Given the description of an element on the screen output the (x, y) to click on. 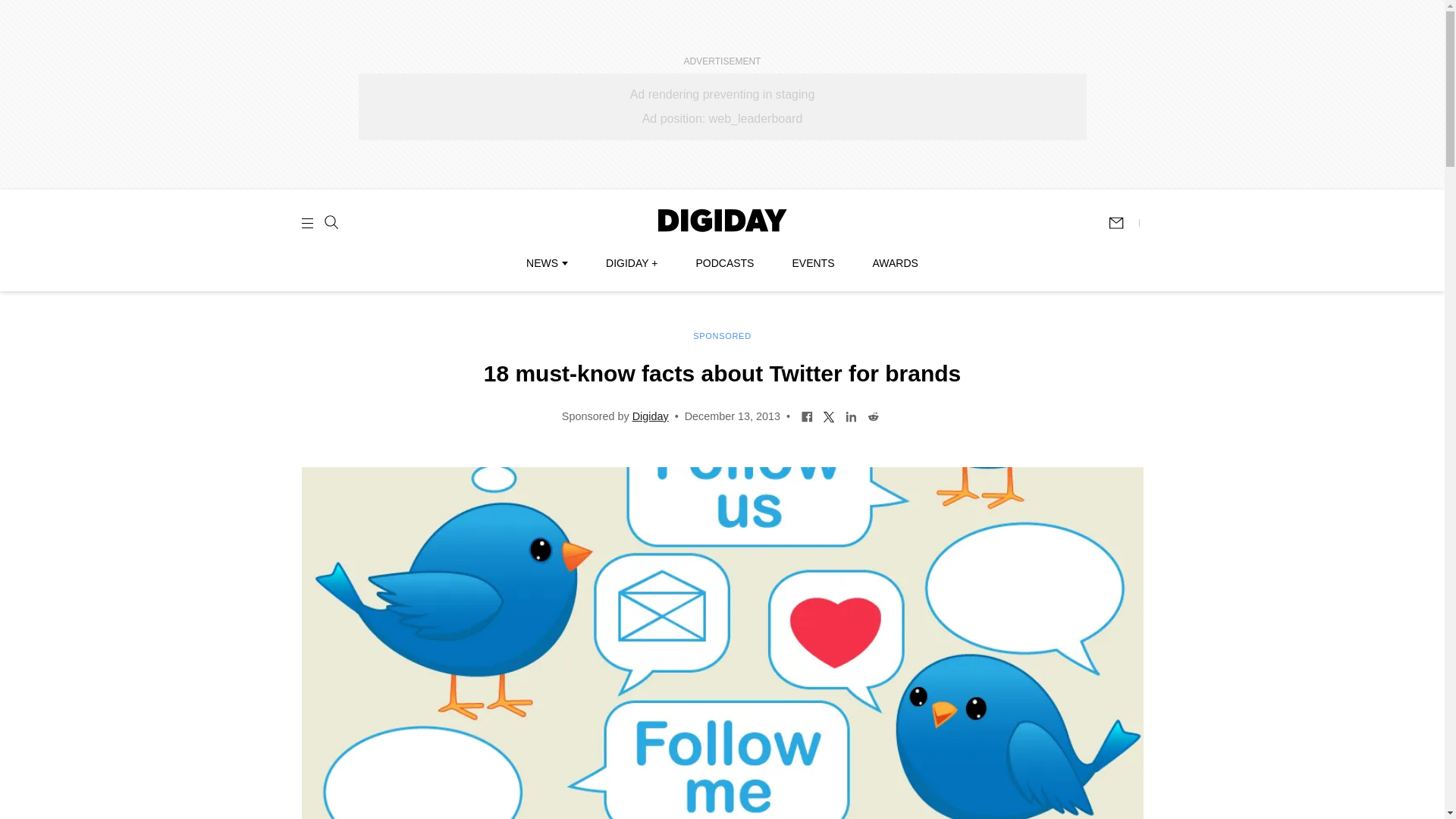
NEWS (546, 262)
Share on Twitter (828, 415)
Subscribe (1123, 223)
Share on Reddit (872, 415)
EVENTS (813, 262)
Share on LinkedIn (850, 415)
Share on Facebook (806, 415)
AWARDS (894, 262)
PODCASTS (725, 262)
